Given the description of an element on the screen output the (x, y) to click on. 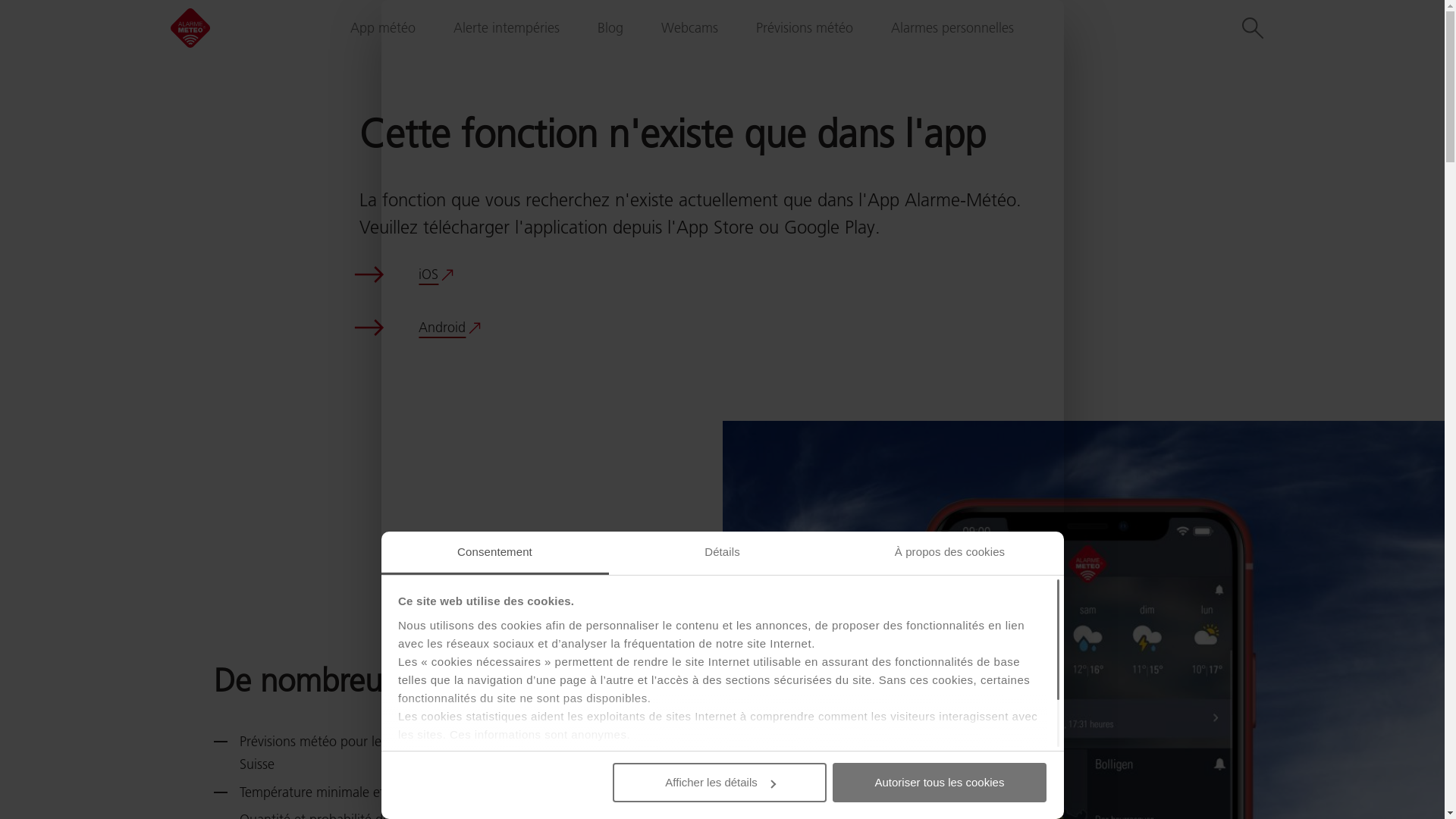
Android Element type: text (449, 327)
Autoriser tous les cookies Element type: text (939, 781)
iOS Element type: text (435, 274)
Consentement Element type: text (494, 552)
Alarmes personnelles Element type: text (952, 27)
Webcams Element type: text (689, 27)
Blog Element type: text (610, 27)
